Given the description of an element on the screen output the (x, y) to click on. 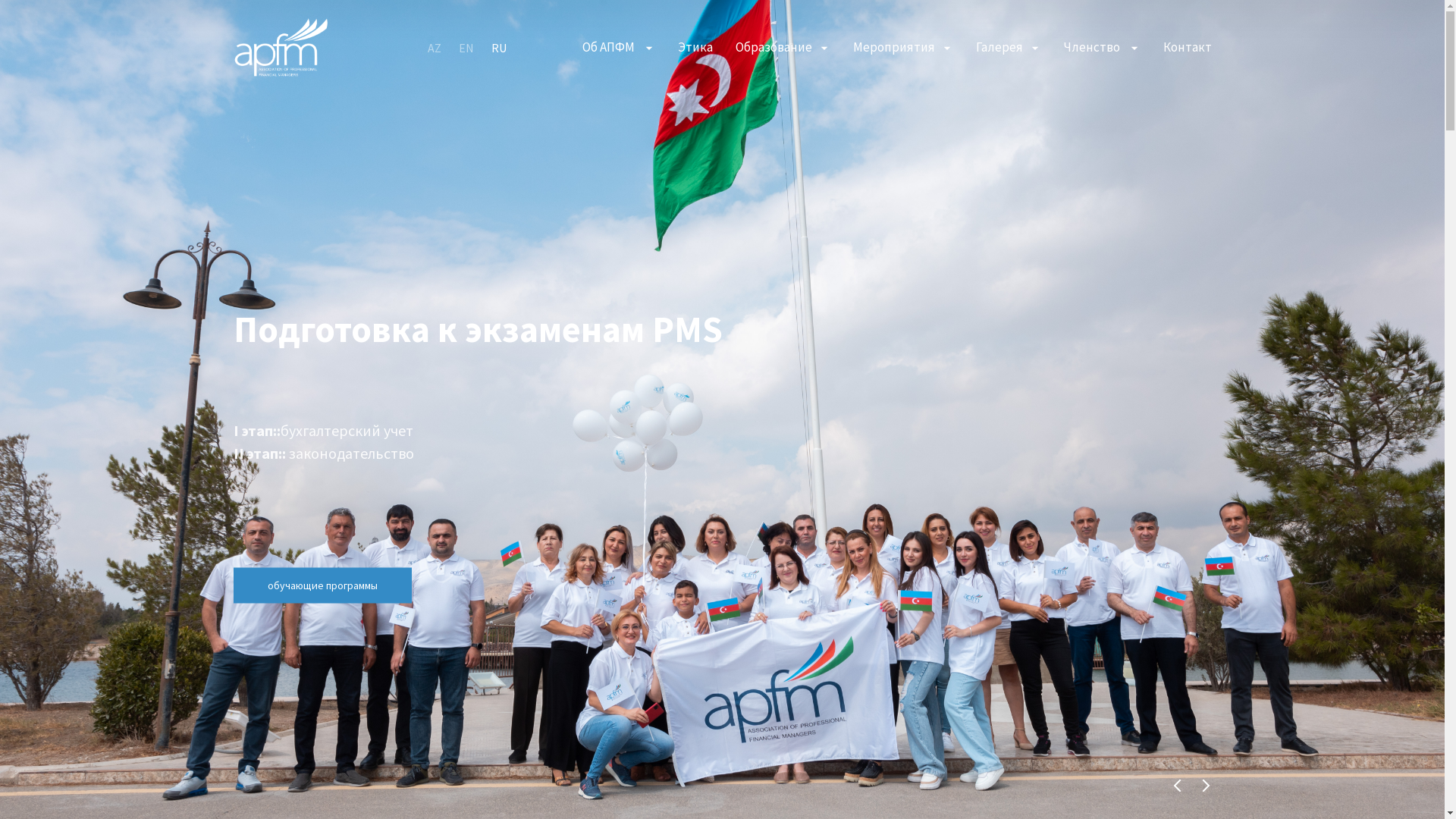
AZ Element type: text (434, 47)
Next Element type: text (1203, 786)
Previous Element type: text (1175, 786)
RU Element type: text (498, 47)
EN Element type: text (465, 47)
